Given the description of an element on the screen output the (x, y) to click on. 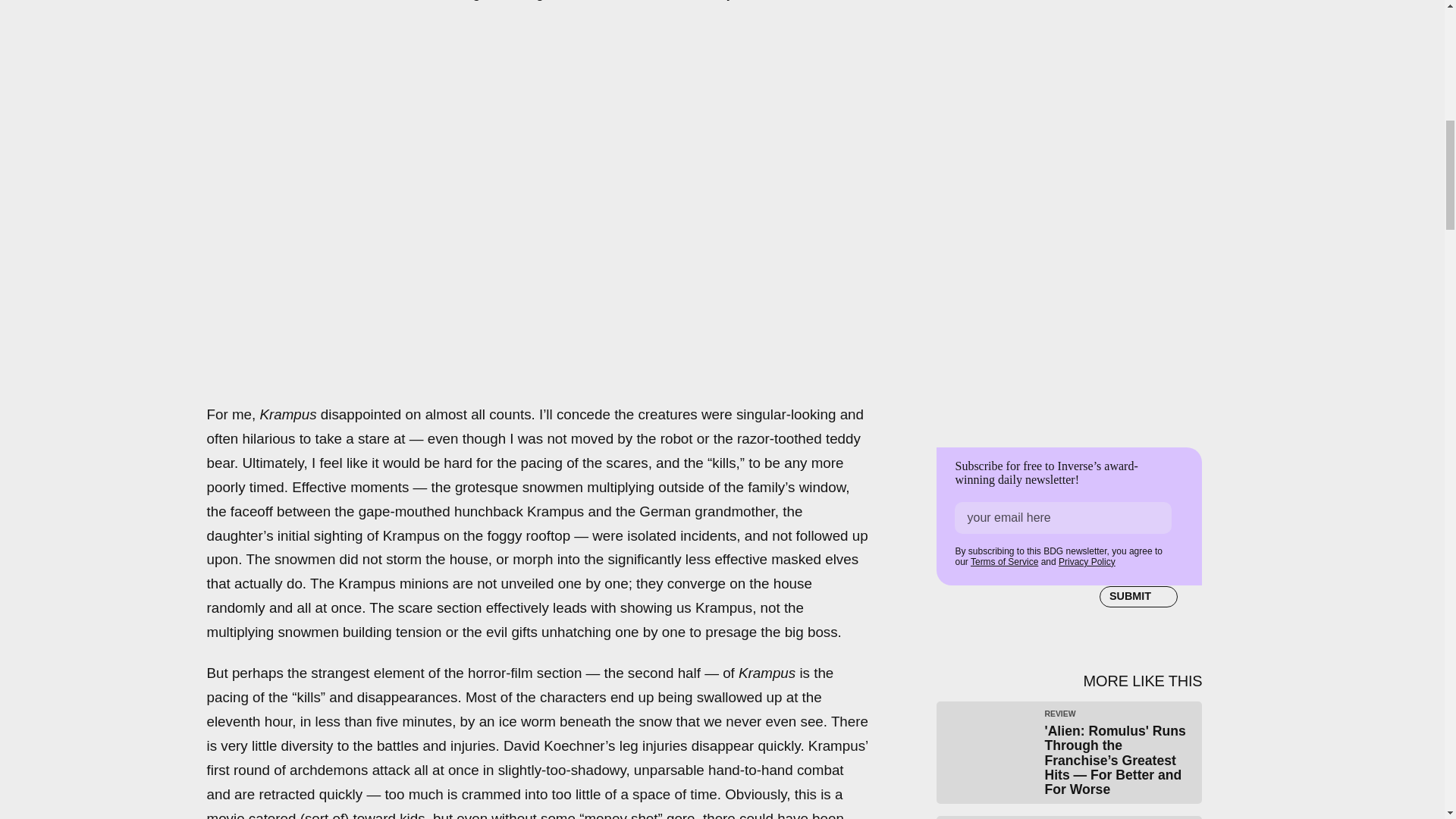
Terms of Service (1004, 561)
SUBMIT (1138, 596)
Privacy Policy (1086, 561)
